Given the description of an element on the screen output the (x, y) to click on. 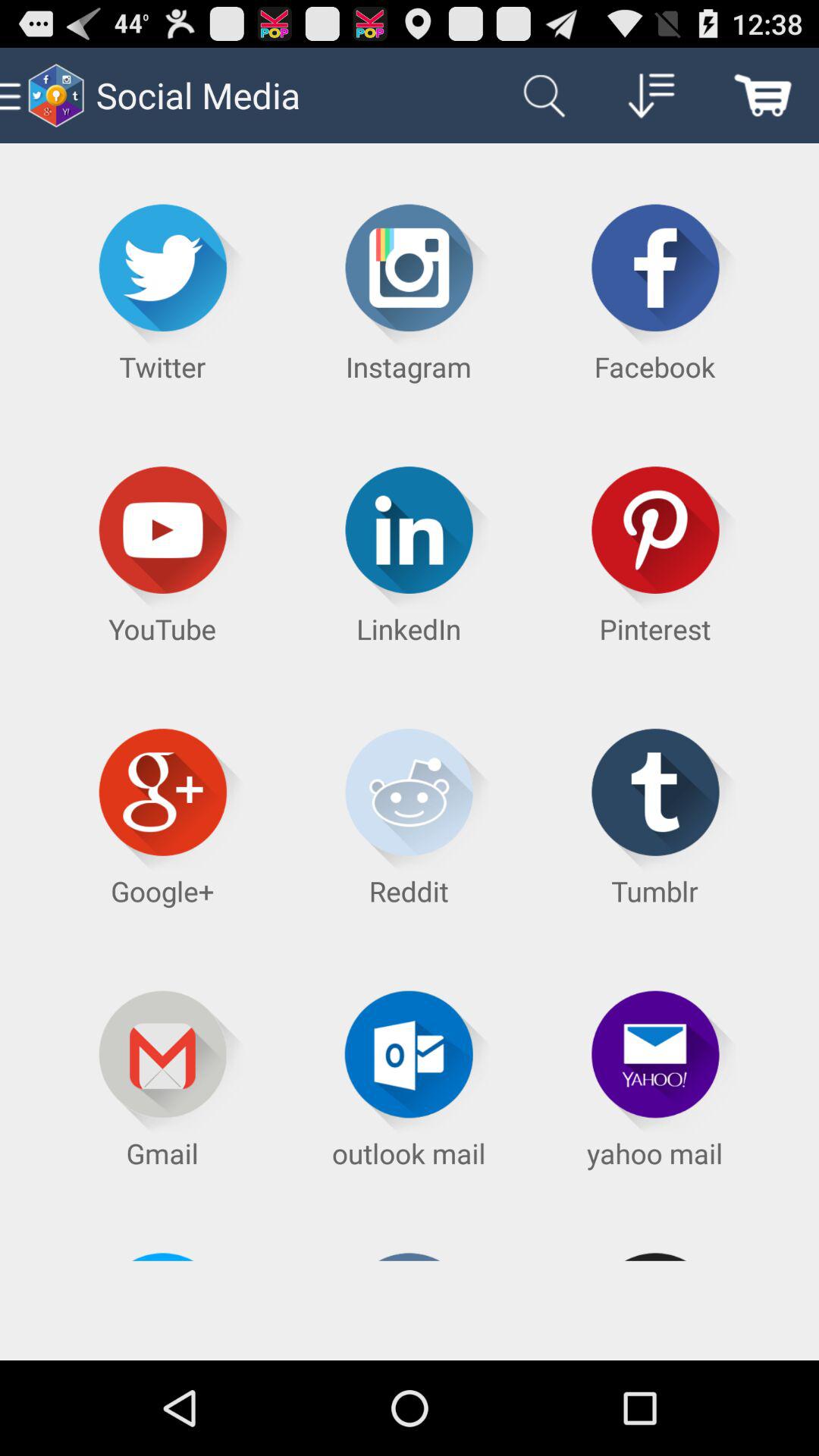
select the icon to the right of social media item (540, 95)
